Given the description of an element on the screen output the (x, y) to click on. 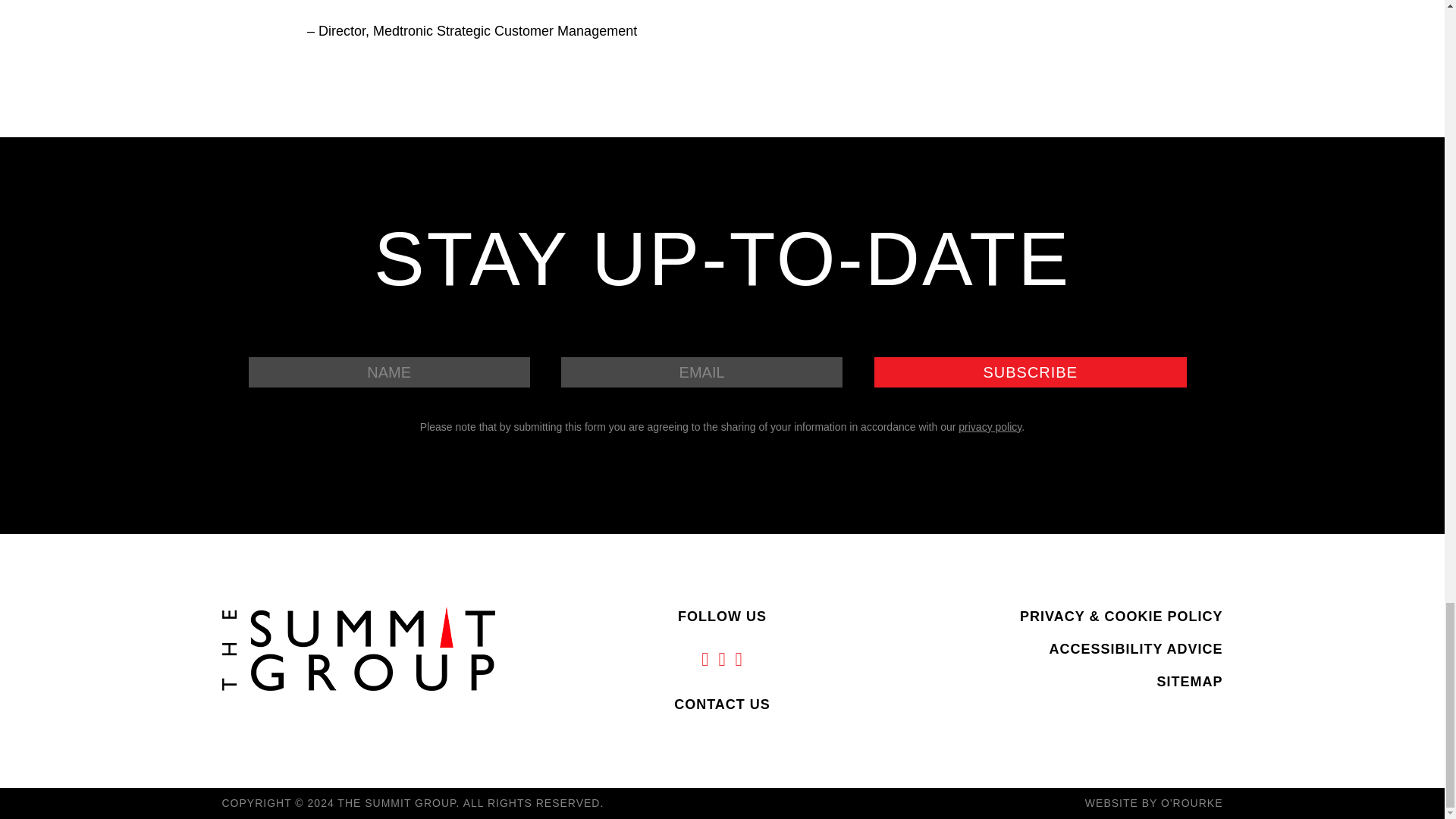
Home (358, 647)
Subscribe (1029, 372)
